Given the description of an element on the screen output the (x, y) to click on. 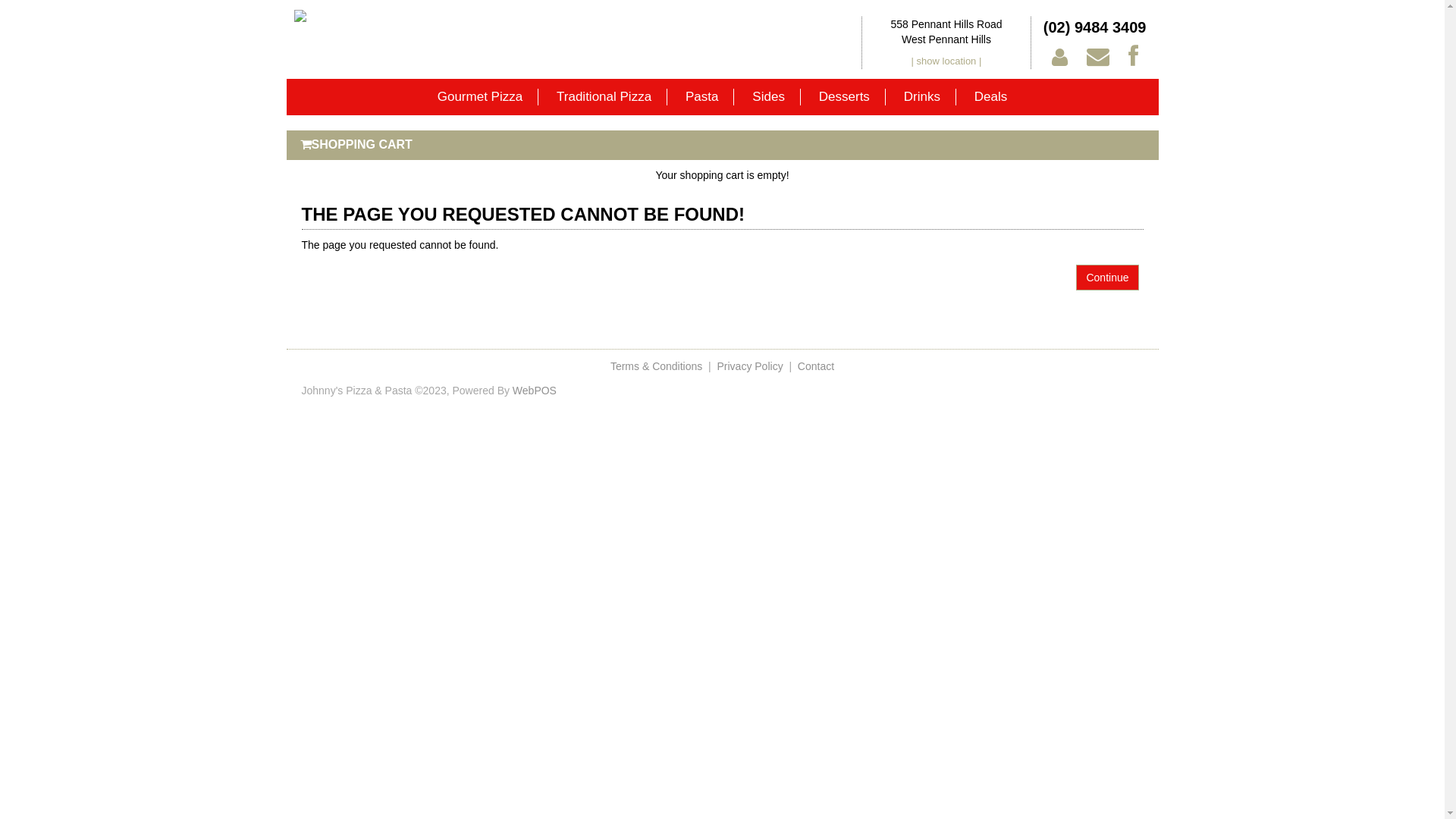
Gourmet Pizza Element type: text (480, 96)
Terms & Conditions Element type: text (656, 366)
WebPOS Element type: text (534, 390)
Contact Element type: text (815, 366)
Deals Element type: text (990, 96)
Sides Element type: text (768, 96)
Drinks Element type: text (922, 96)
Desserts Element type: text (844, 96)
Traditional Pizza Element type: text (604, 96)
Privacy Policy Element type: text (750, 366)
Pasta Element type: text (702, 96)
| show location | Element type: text (946, 60)
Continue Element type: text (1107, 277)
